Given the description of an element on the screen output the (x, y) to click on. 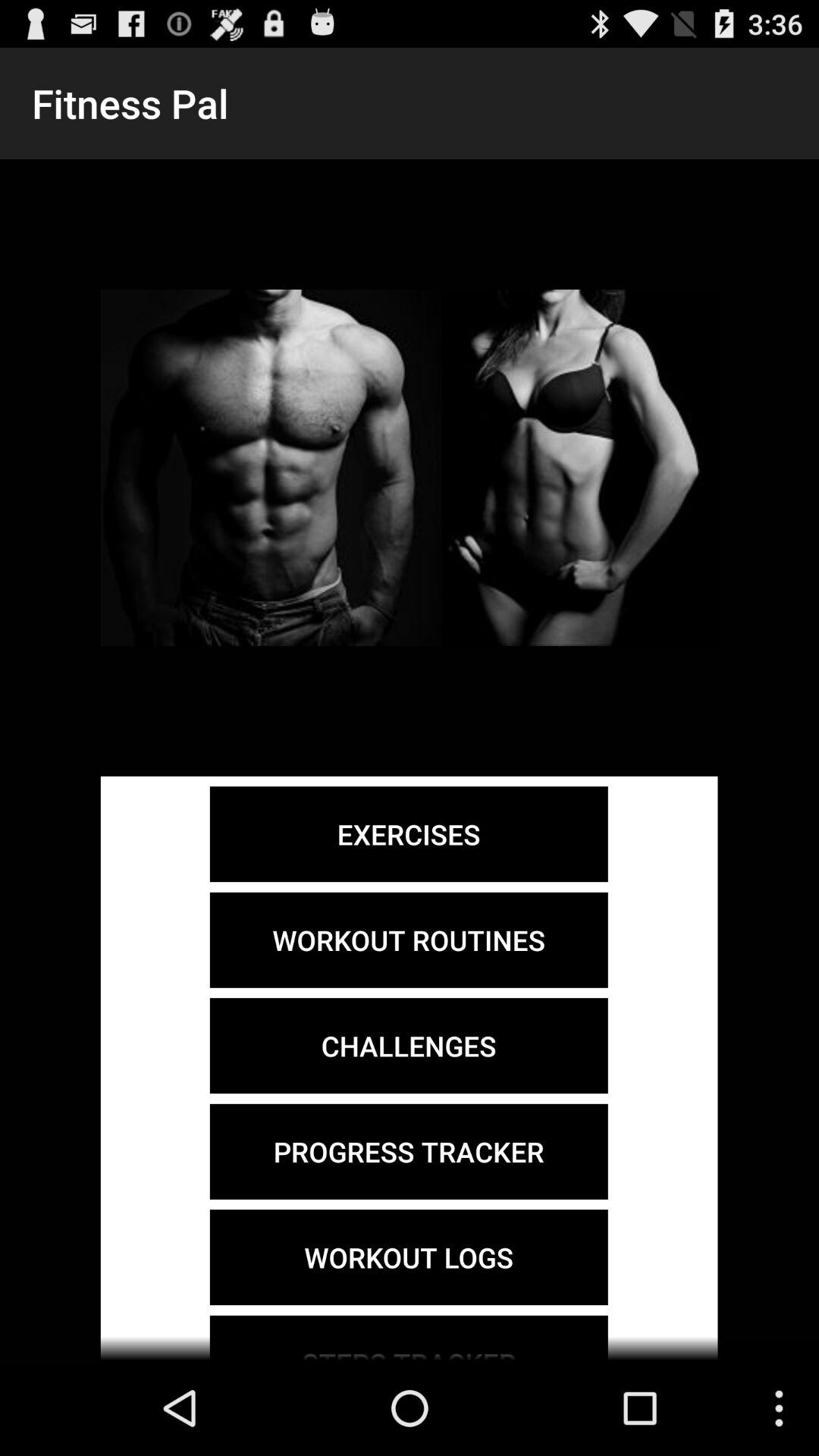
launch the progress tracker item (408, 1151)
